Given the description of an element on the screen output the (x, y) to click on. 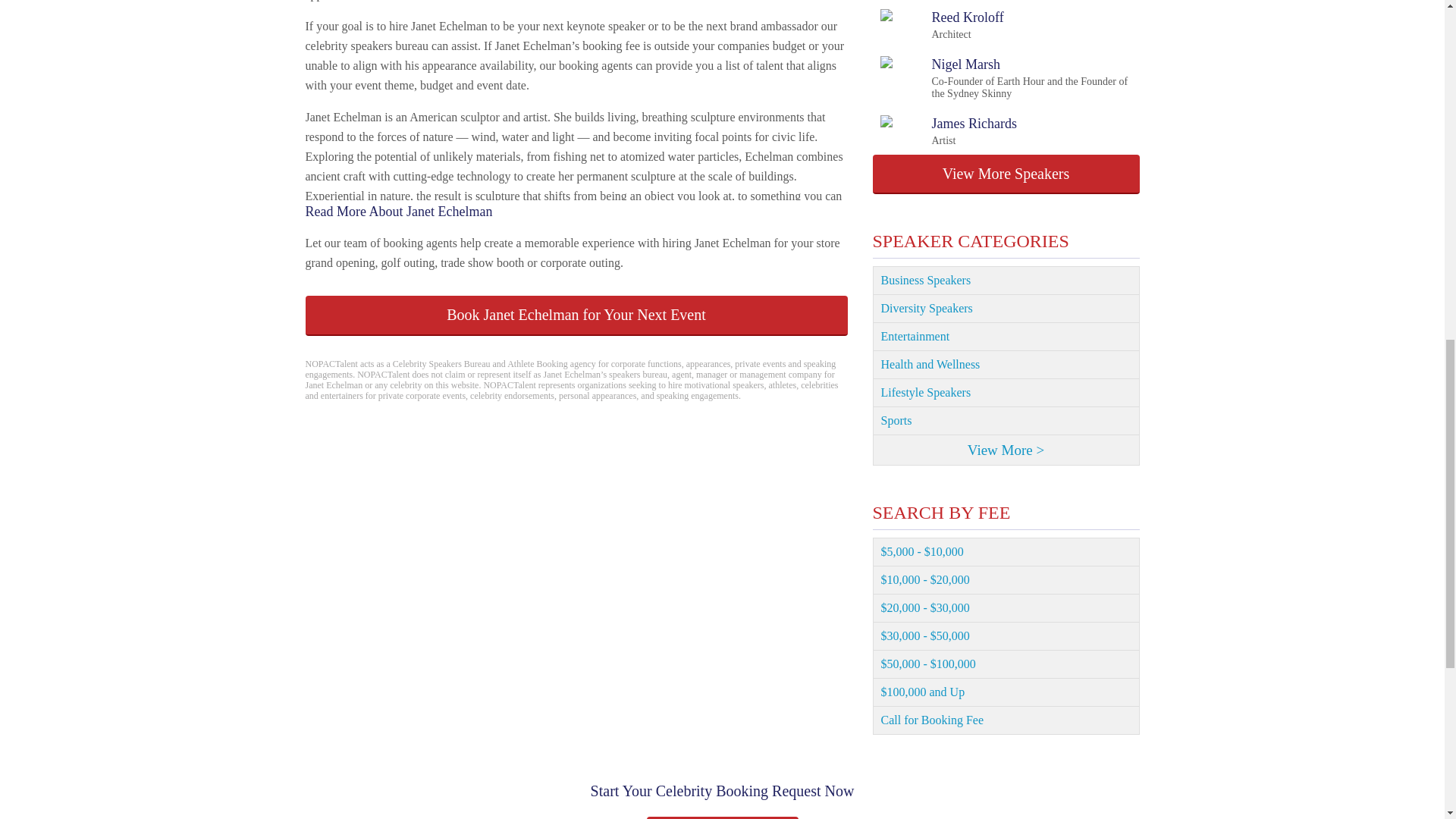
Sports (1005, 420)
Diversity Speakers (941, 24)
Book Janet Echelman for Your Next Event (1005, 308)
View More Speakers (575, 315)
Entertainment (947, 131)
Business Speakers (1005, 174)
Health and Wellness (1005, 336)
